Given the description of an element on the screen output the (x, y) to click on. 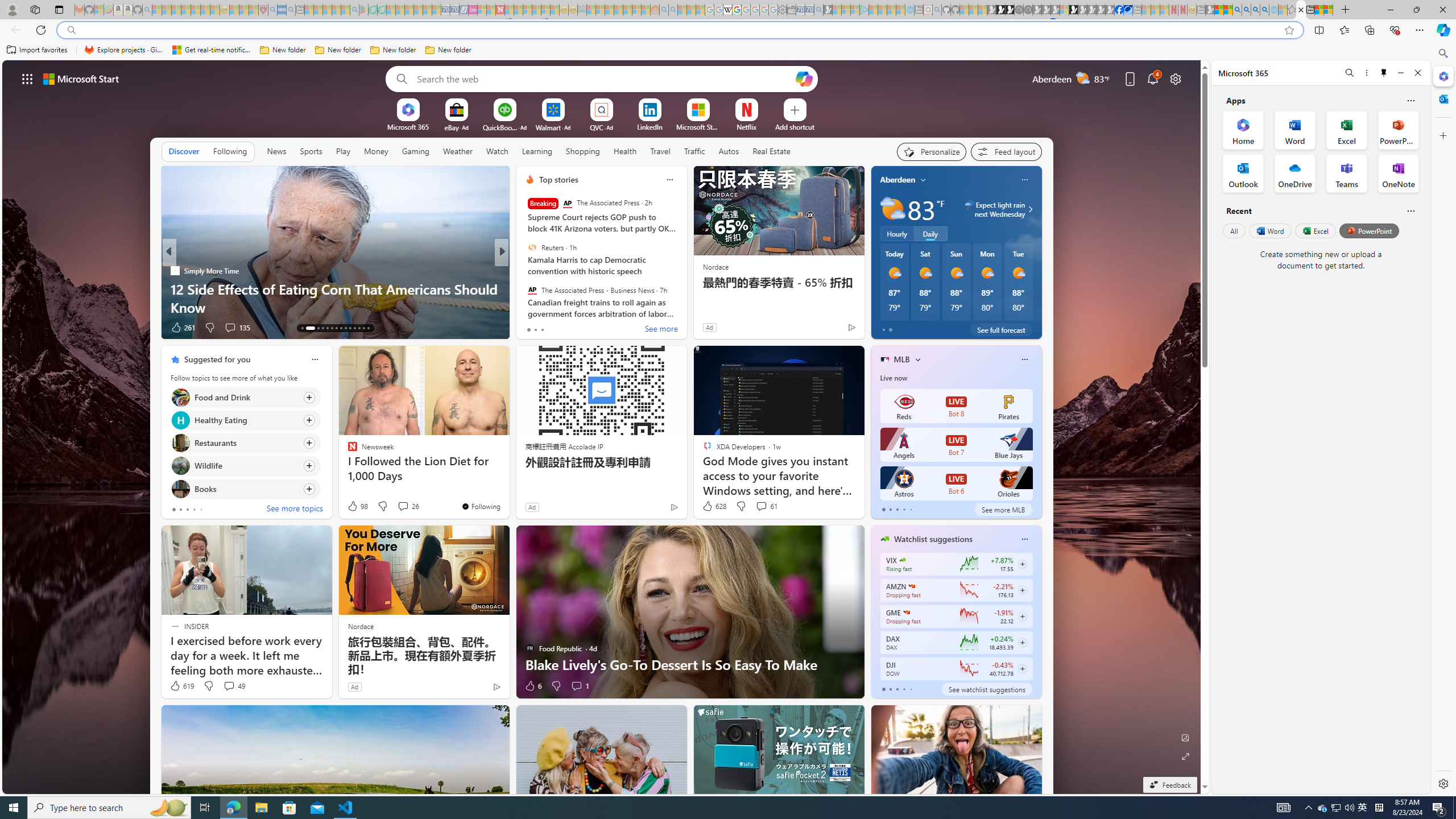
tab-2 (897, 689)
CNBC (524, 270)
GAMESTOP CORP. (906, 612)
AutomationID: tab-20 (340, 328)
Close Microsoft 365 pane (1442, 76)
684 Like (532, 327)
